Given the description of an element on the screen output the (x, y) to click on. 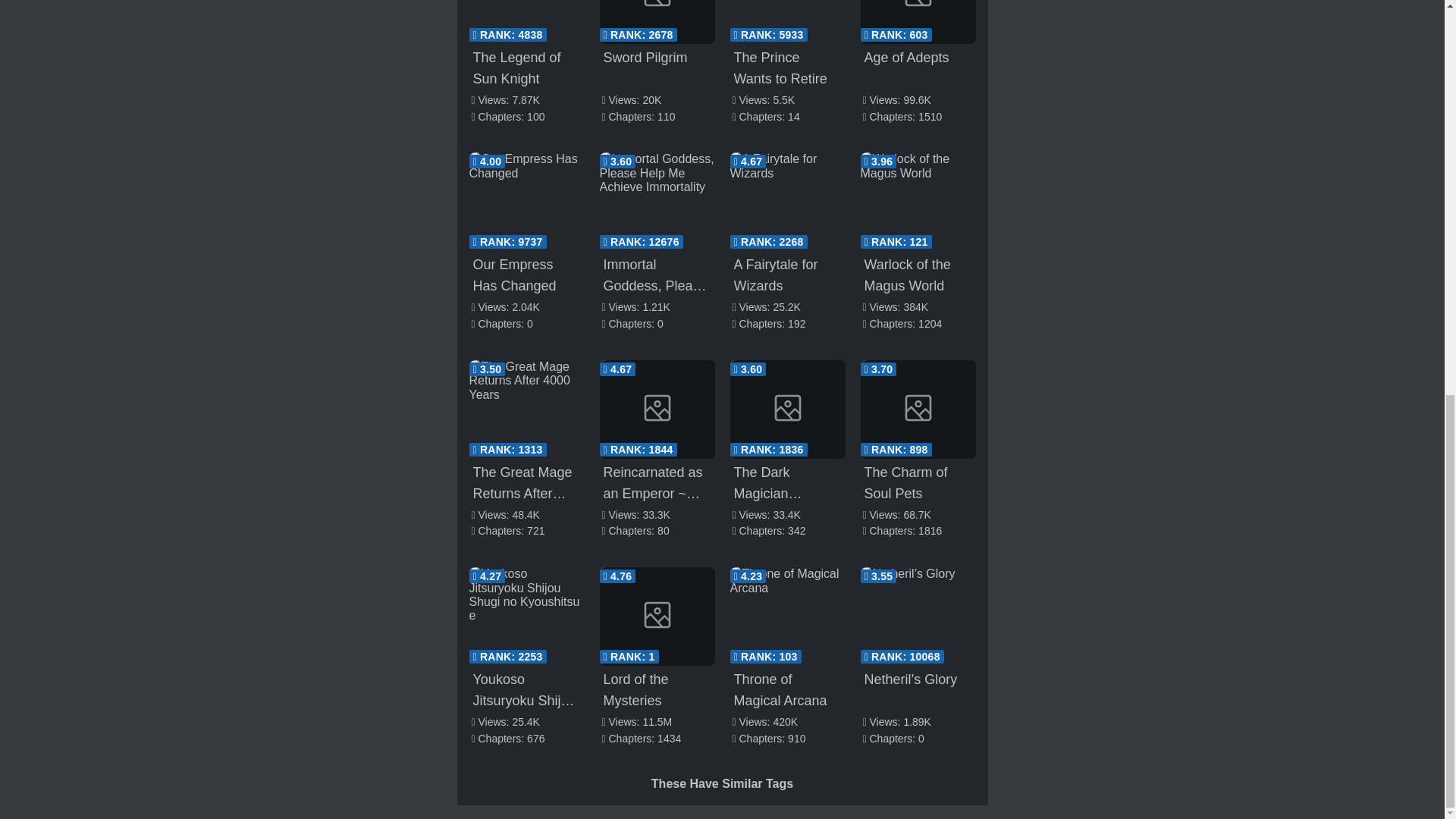
Lord of the Mysteries (656, 616)
The Dark Magician Transmigrates After 66666 Years (786, 409)
Sword Pilgrim (656, 22)
Age of Adepts (917, 22)
The Charm of Soul Pets (917, 409)
